Given the description of an element on the screen output the (x, y) to click on. 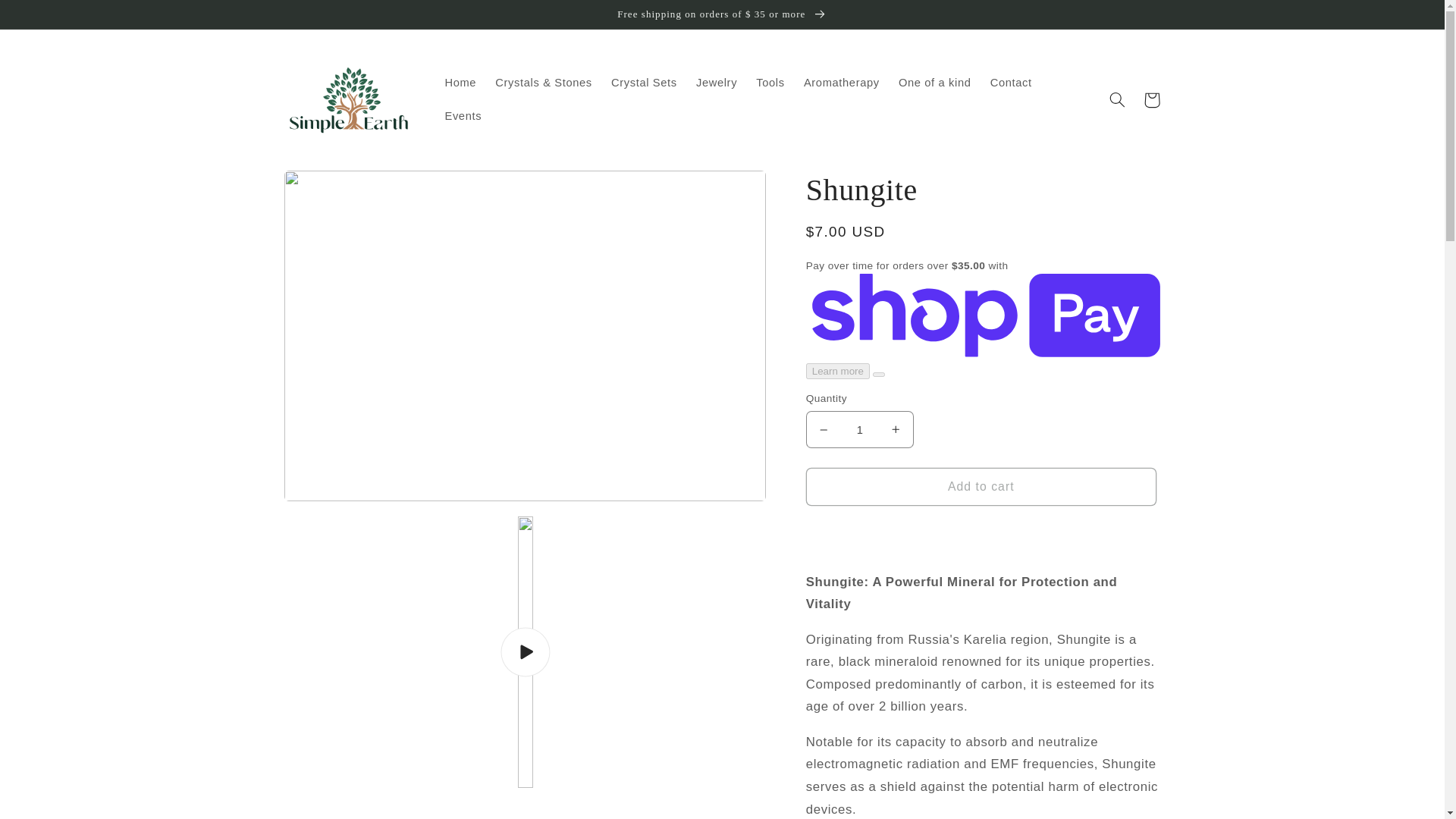
Events (463, 116)
Aromatherapy (840, 82)
Play video (524, 651)
Skip to product information (331, 188)
Add to cart (981, 486)
Contact (1010, 82)
Increase quantity for Shungite (895, 429)
Home (460, 82)
Cart (1151, 99)
Skip to content (48, 18)
